Given the description of an element on the screen output the (x, y) to click on. 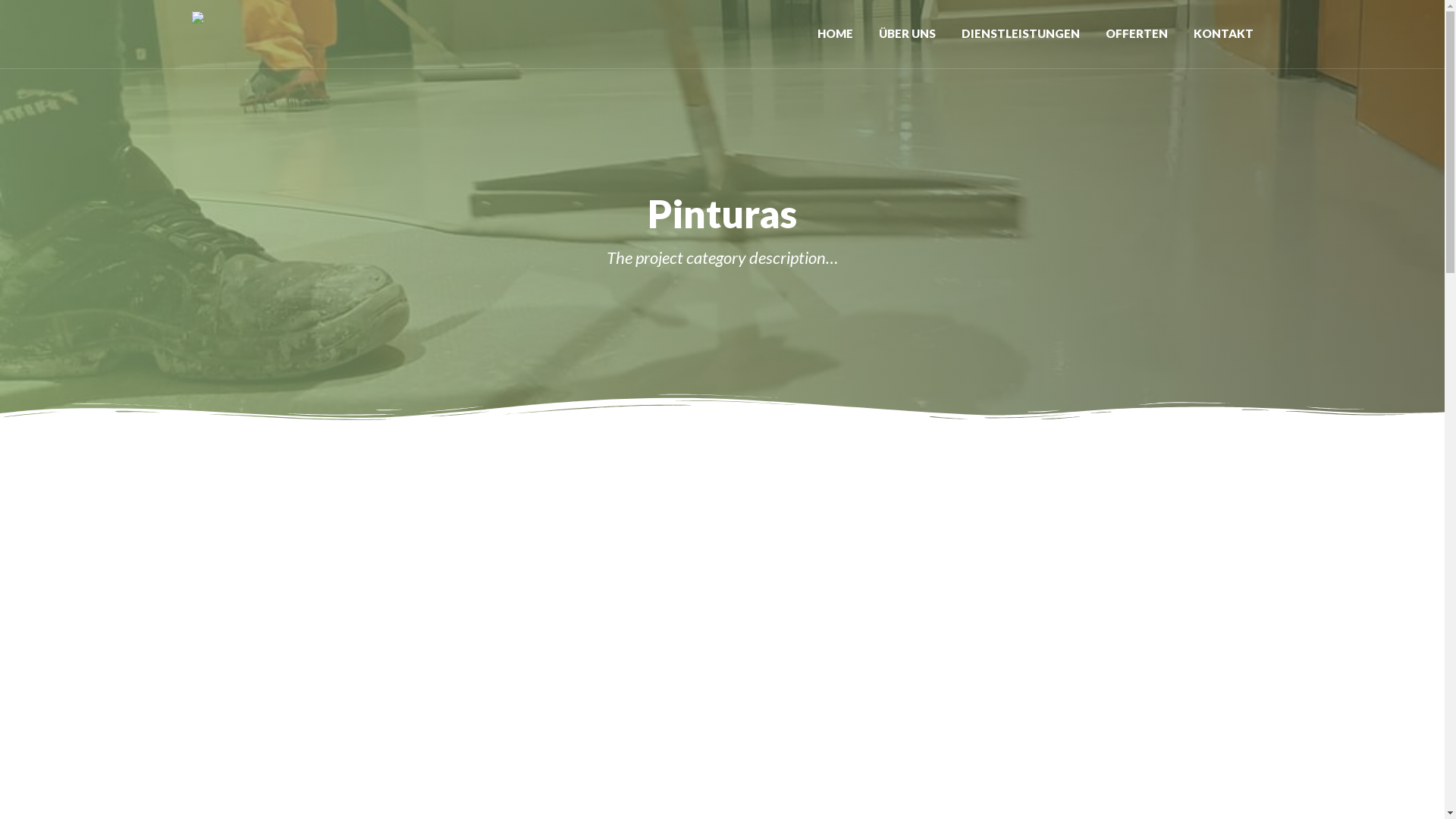
KONTAKT Element type: text (1215, 33)
HOME Element type: text (834, 33)
DIENSTLEISTUNGEN Element type: text (1019, 33)
OFFERTEN Element type: text (1135, 33)
